Given the description of an element on the screen output the (x, y) to click on. 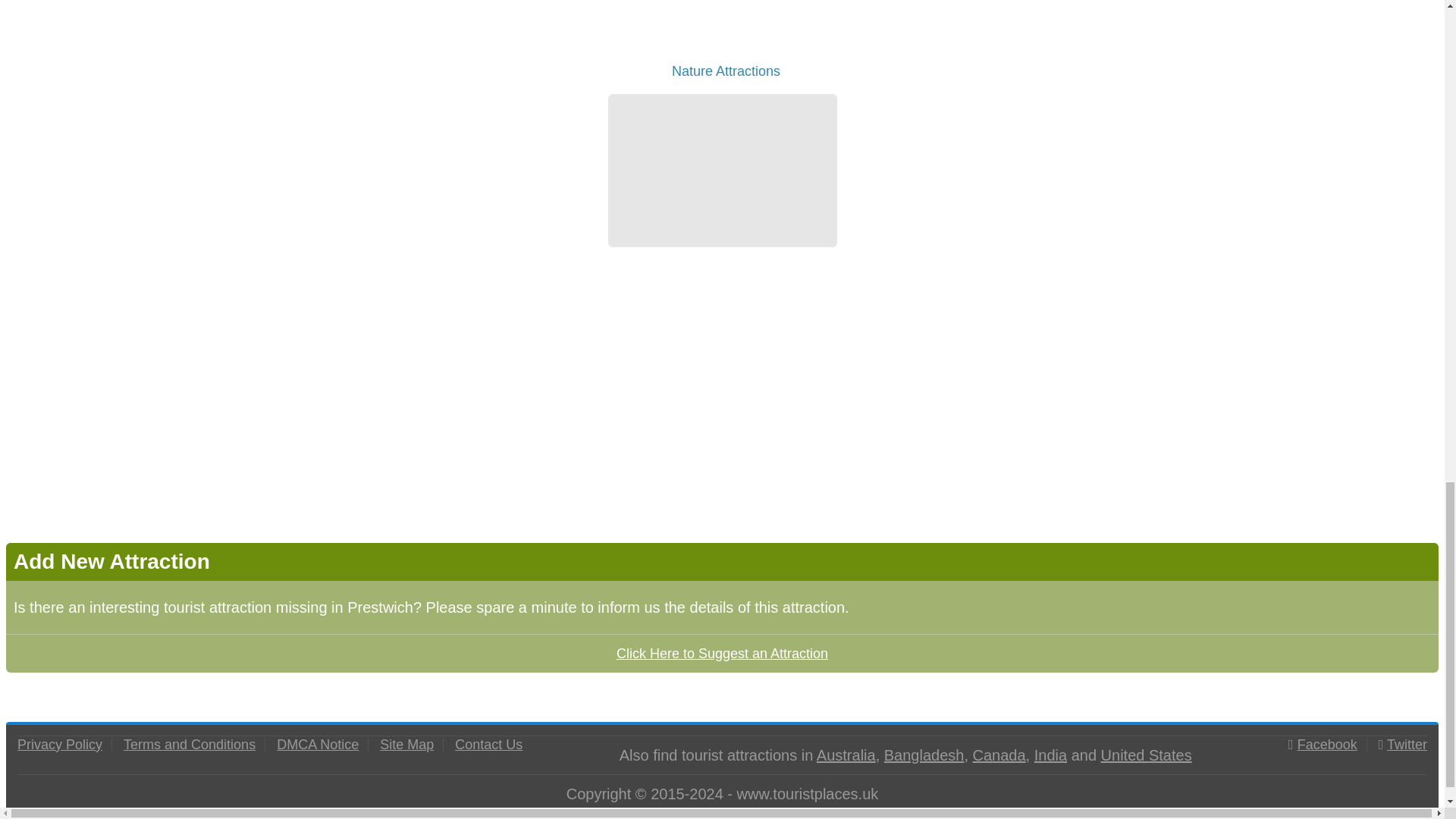
Twitter (1406, 744)
India (1050, 754)
Nature Attractions (721, 74)
Click Here to Suggest an Attraction (721, 652)
Site Map (406, 744)
Tourist attractions in Canada (999, 754)
Canada (999, 754)
Nature Attractions (721, 40)
Australia (846, 754)
Facebook (1326, 744)
Tourist attractions in Bangladesh (923, 754)
DMCA Notice (317, 744)
Privacy Policy (59, 744)
Tourist attractions in United States (1146, 754)
Tourist attractions in Australia (846, 754)
